Given the description of an element on the screen output the (x, y) to click on. 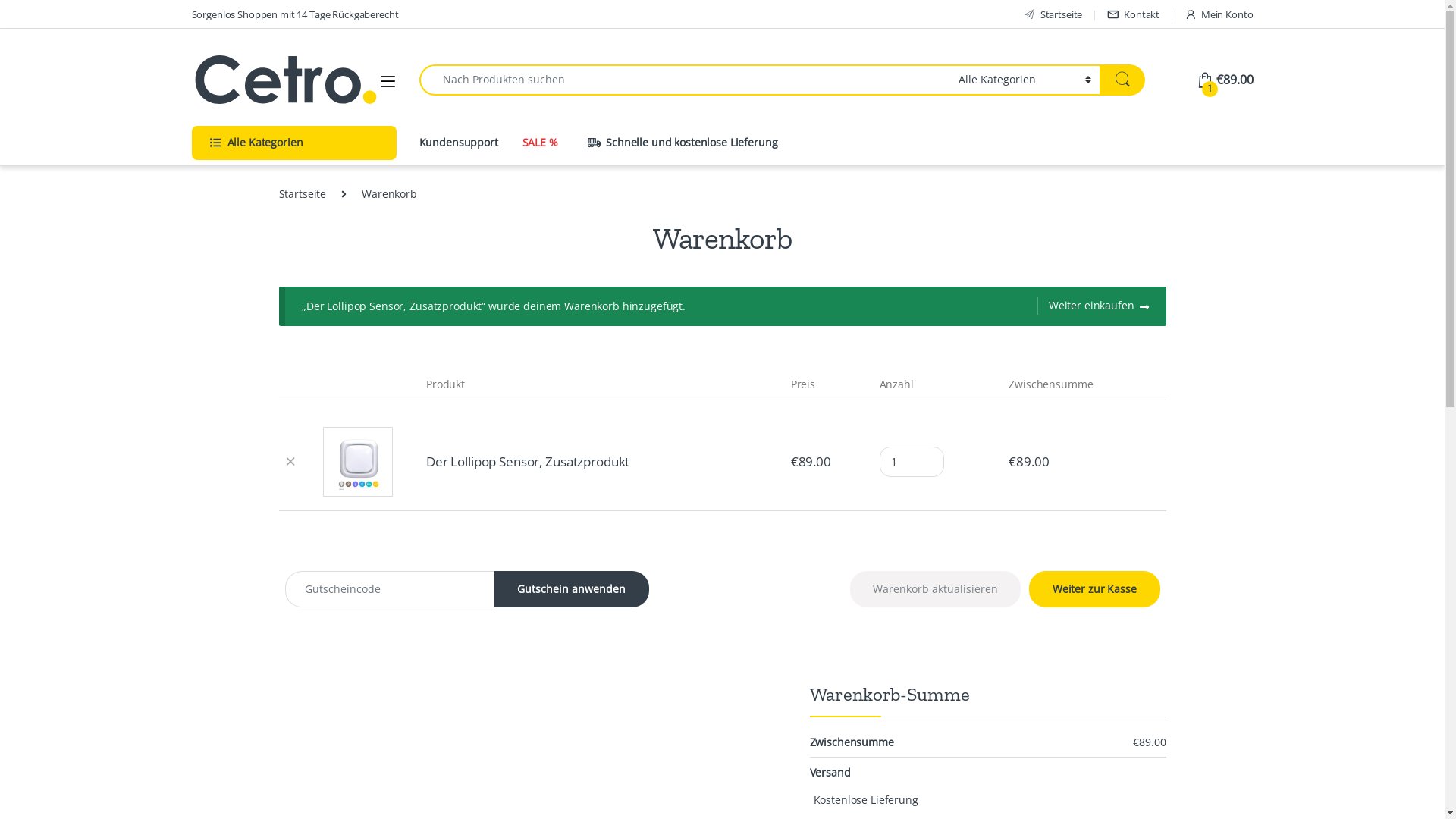
Weiter zur Kasse Element type: text (1094, 589)
Alle Kategorien Element type: text (293, 142)
Startseite Element type: text (302, 193)
Weiter einkaufen Element type: text (1092, 305)
Schnelle und kostenlose Lieferung Element type: text (667, 142)
SALE % Element type: text (540, 142)
Kundensupport Element type: text (457, 142)
Gutschein anwenden Element type: text (571, 589)
Qty Element type: hover (911, 461)
Mein Konto Element type: text (1218, 14)
Kontakt Element type: text (1133, 14)
Warenkorb aktualisieren Element type: text (935, 588)
Startseite Element type: text (1052, 14)
Der Lollipop Sensor, Zusatzprodukt Element type: text (527, 461)
